Given the description of an element on the screen output the (x, y) to click on. 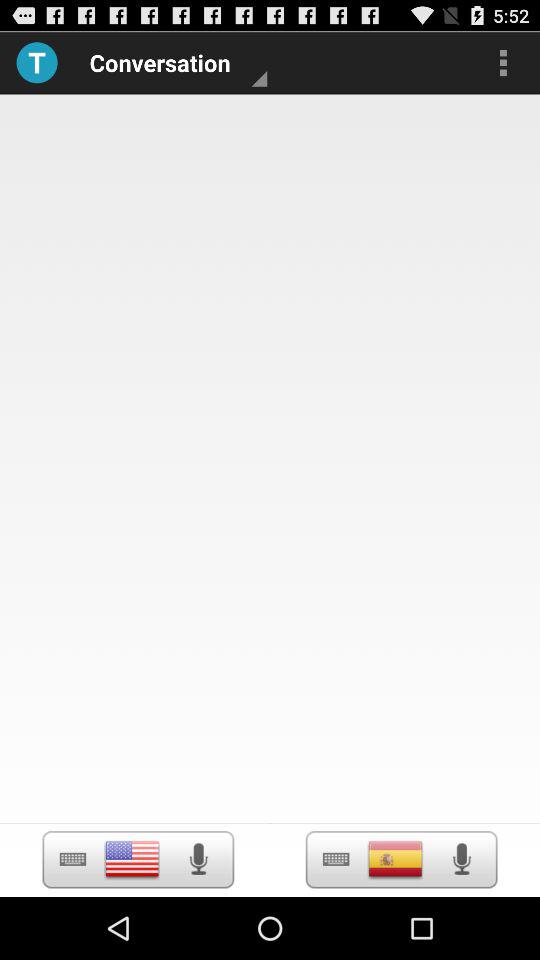
click the speaker (198, 859)
